Given the description of an element on the screen output the (x, y) to click on. 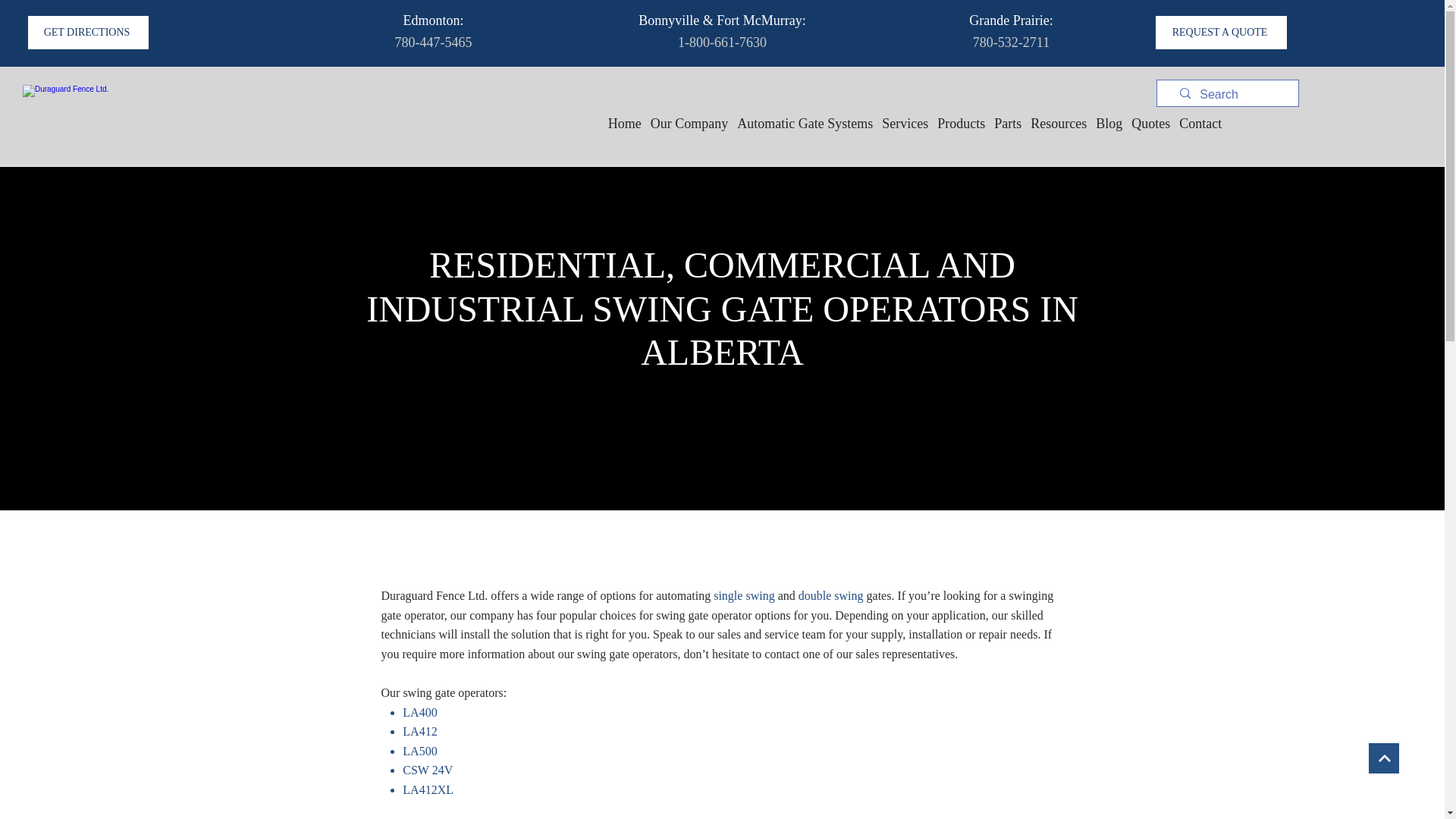
Automatic Gate Systems (804, 124)
GET DIRECTIONS (87, 32)
780-532-2711 (1010, 42)
Home (625, 124)
REQUEST A QUOTE (1221, 32)
Our Company (689, 124)
1-800-661-7630 (722, 42)
Products (961, 124)
780-447-5465 (432, 42)
Services (905, 124)
